Given the description of an element on the screen output the (x, y) to click on. 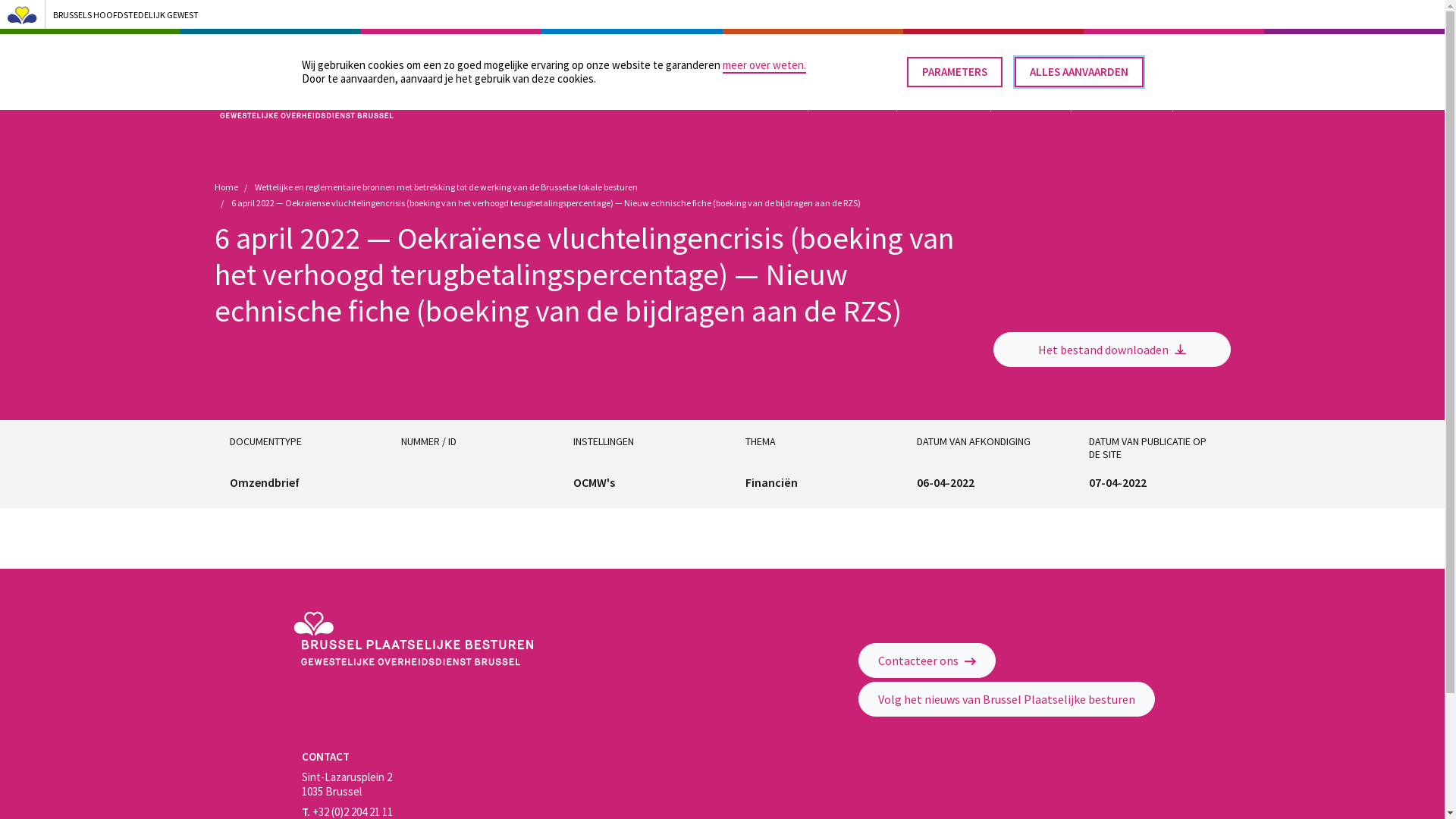
DE PLAATSELIJKE BESTUREN Element type: text (842, 56)
FINANCIERING Element type: text (942, 99)
ALLES AANVAARDEN Element type: text (1078, 71)
DOCUMENTATIE Element type: text (1121, 99)
Contacteer ons Element type: text (926, 660)
NL Element type: text (1176, 56)
PARAMETERS Element type: text (954, 71)
TOEZICHT Element type: text (774, 99)
Het bestand downloaden Element type: text (1111, 349)
GELIJKE KANSEN Element type: text (1066, 56)
Volg het nieuws van Brussel Plaatselijke besturen Element type: text (1006, 698)
CONTACT Element type: text (1131, 56)
NIEUWS Element type: text (1200, 99)
Effectuer une recherche Element type: hover (1209, 56)
meer over weten. Element type: text (763, 65)
ONS BESTUUR Element type: text (749, 56)
Zoeken Element type: text (1195, 26)
WETGEVING Element type: text (1029, 99)
Home Element type: text (225, 186)
OPROEPEN VOOR PROJECTEN Element type: text (965, 56)
TOESTEMMING INTREKKEN Element type: text (921, 64)
Sint-Lazarusplein 2
1035 Brussel Element type: text (346, 784)
BRUSSELS HOOFDSTEDELIJK GEWEST Element type: text (714, 14)
ORGANISATIE Element type: text (851, 99)
